Given the description of an element on the screen output the (x, y) to click on. 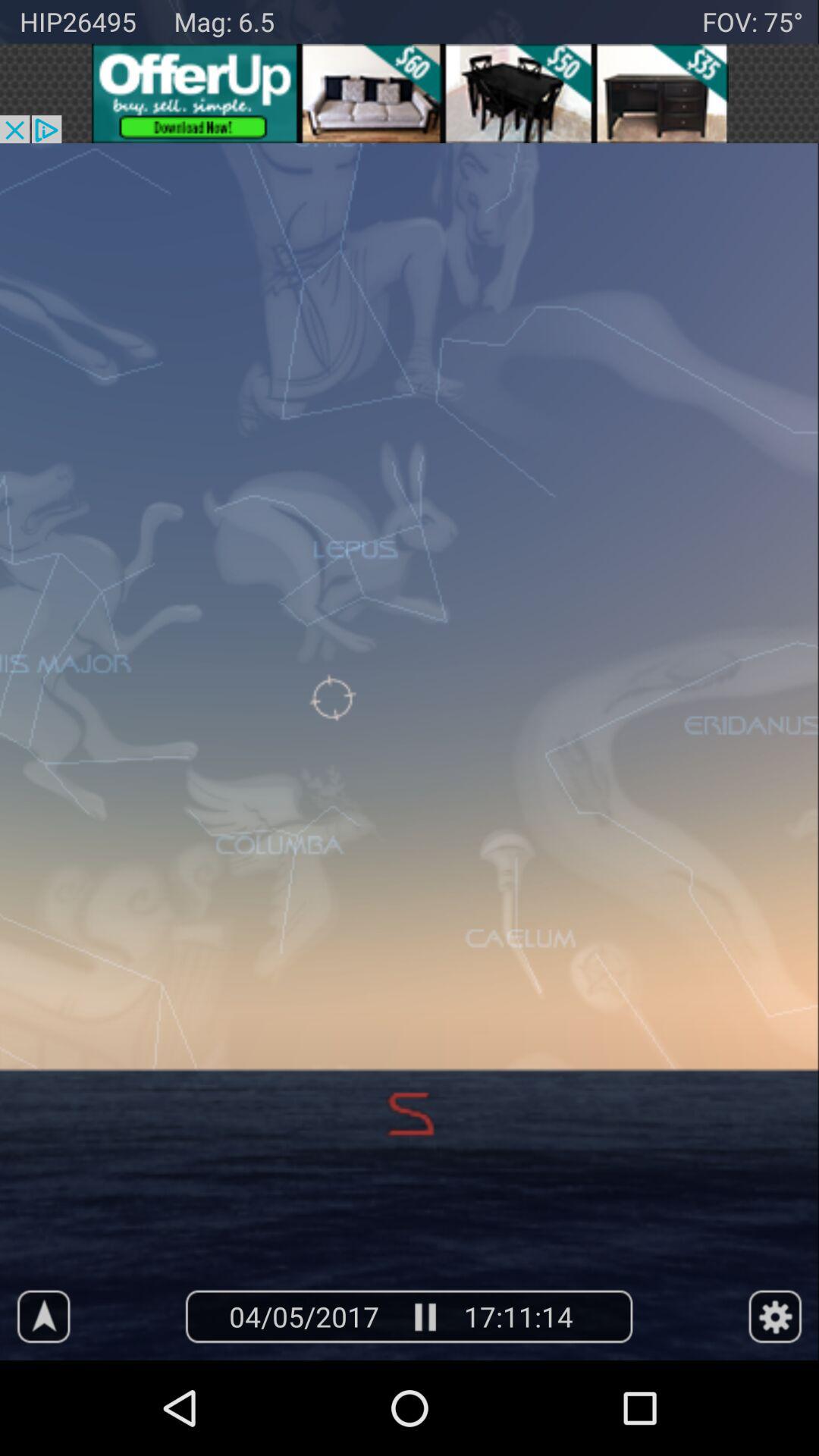
access advertisement (409, 93)
